Given the description of an element on the screen output the (x, y) to click on. 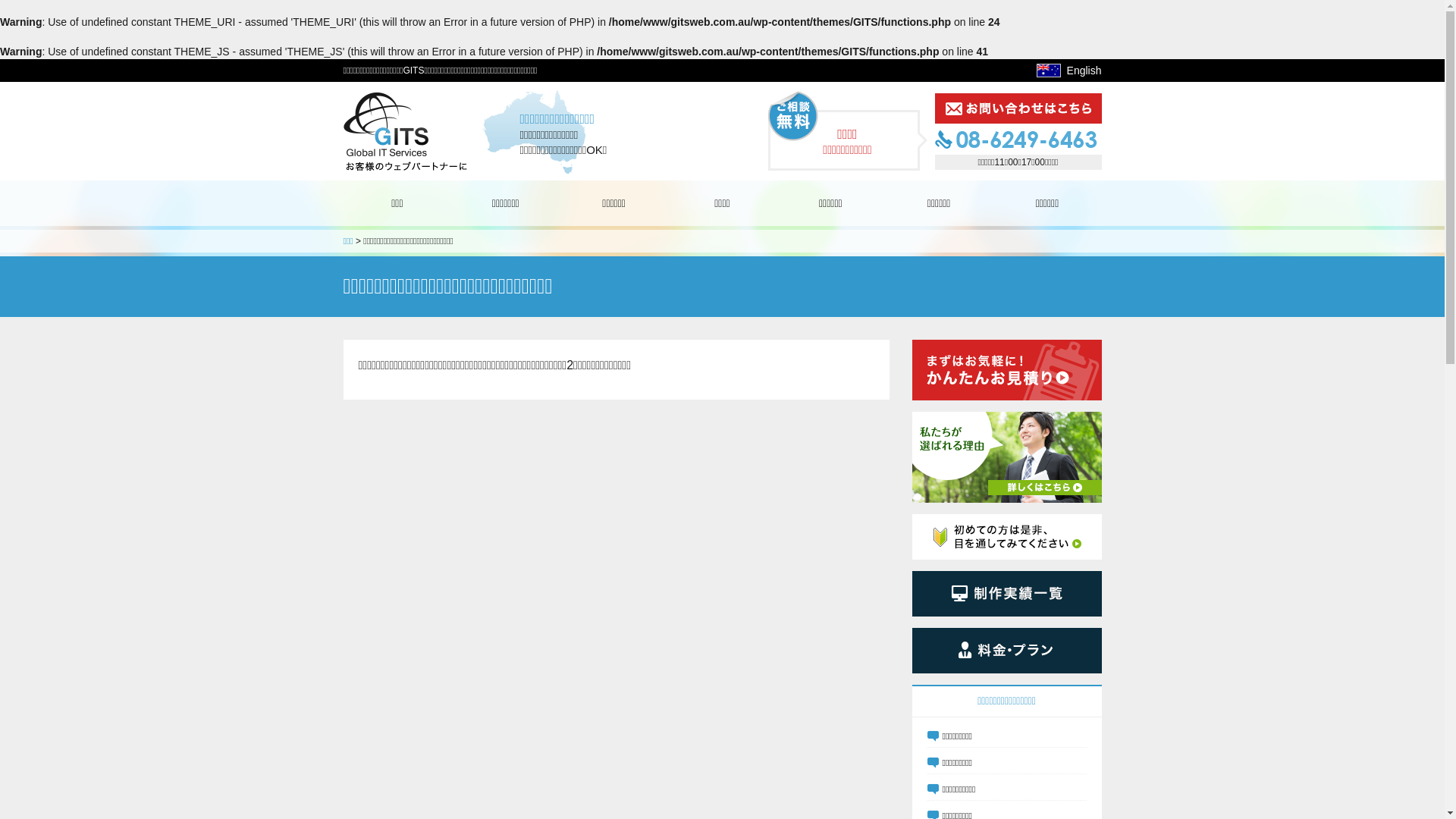
English Element type: text (1083, 70)
